Given the description of an element on the screen output the (x, y) to click on. 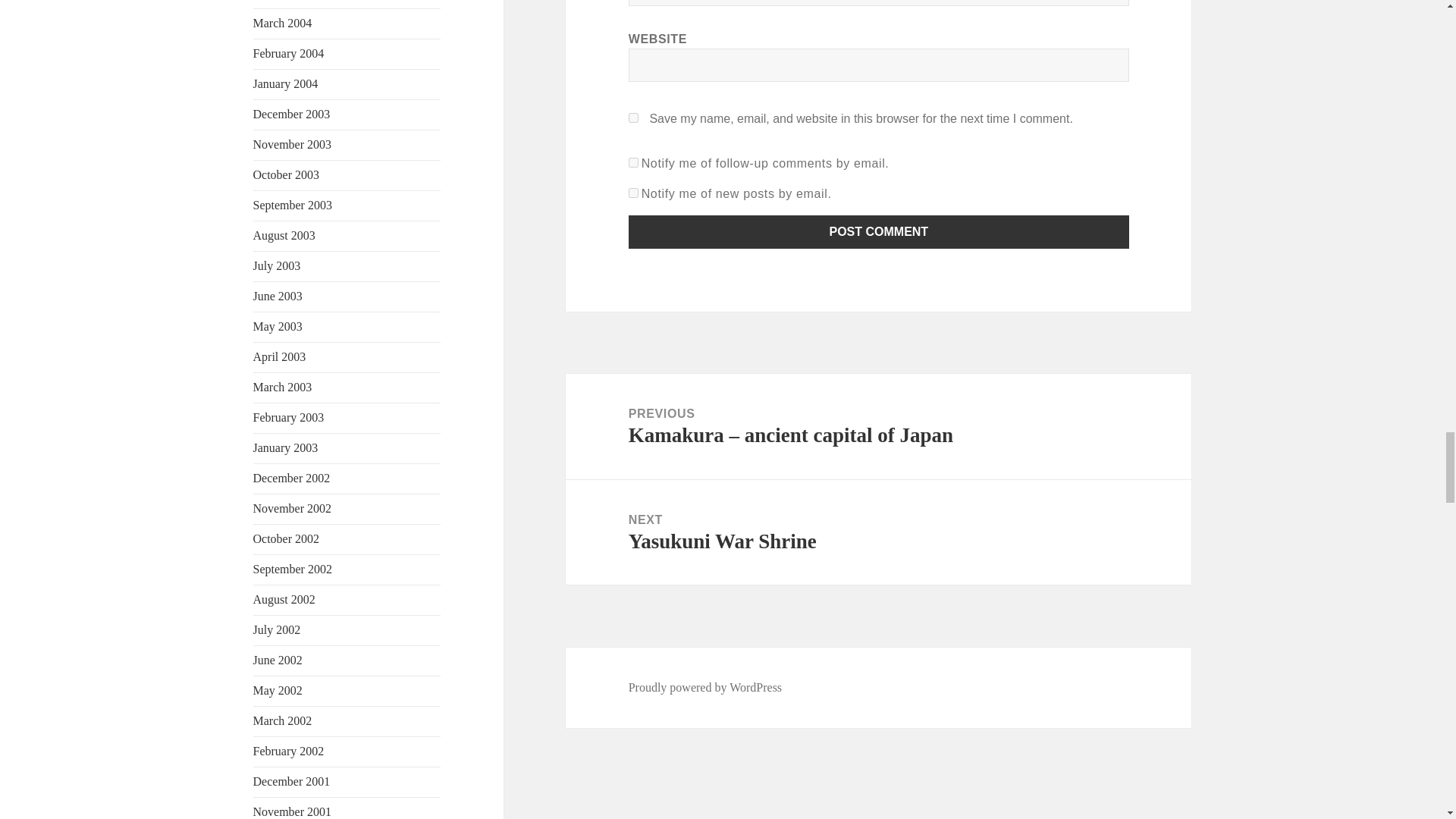
subscribe (633, 162)
subscribe (633, 193)
Post Comment (878, 231)
yes (633, 117)
